Given the description of an element on the screen output the (x, y) to click on. 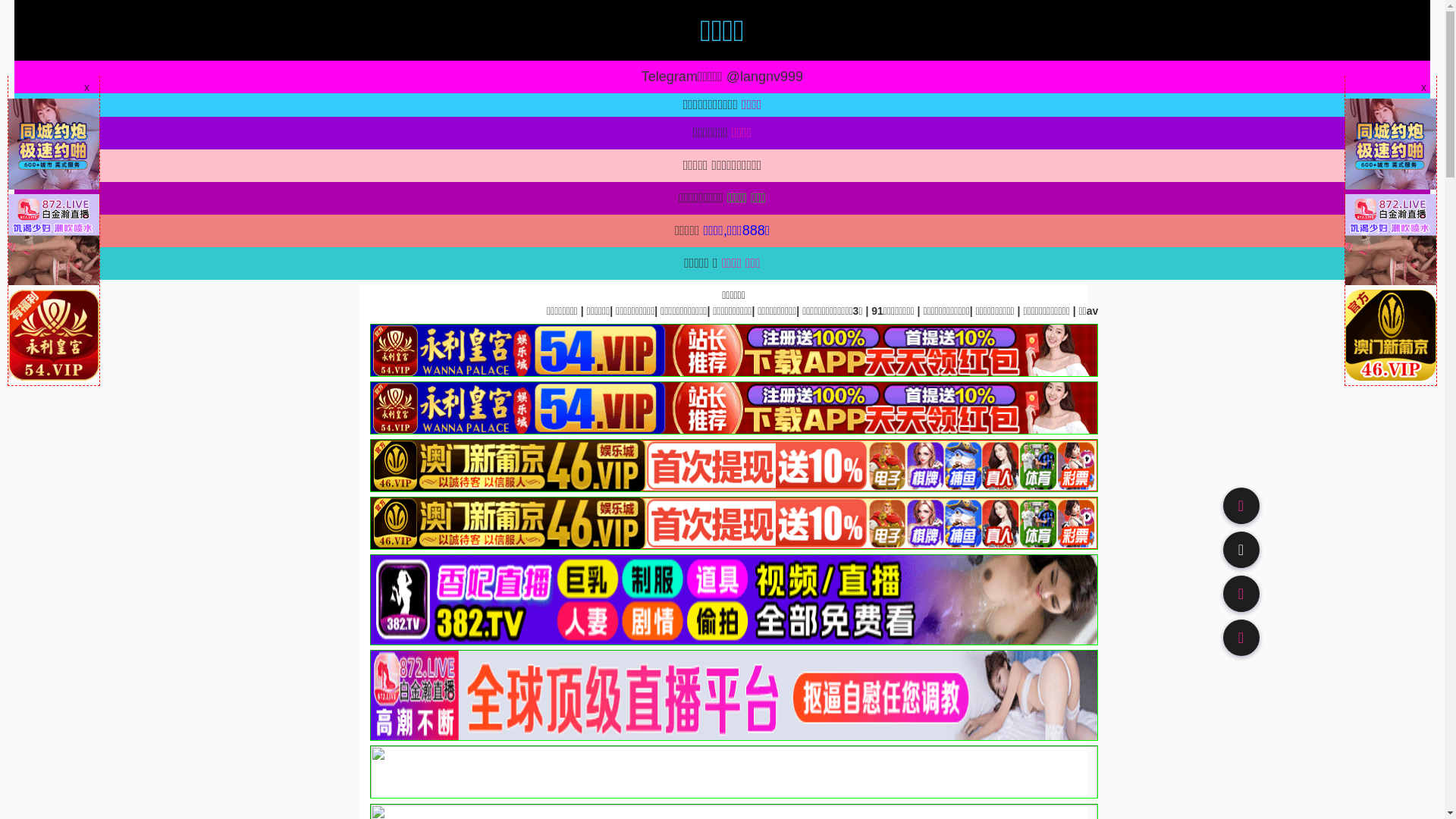
| Element type: text (104, 310)
| Element type: text (298, 310)
91TV Element type: hover (1240, 593)
| Element type: text (241, 310)
| Element type: text (669, 310)
| Element type: text (164, 310)
| Element type: text (191, 310)
| Element type: text (620, 310)
| Element type: text (475, 310)
x Element type: text (1423, 86)
| Element type: text (644, 310)
| Element type: text (70, 310)
| Element type: text (691, 310)
| Element type: text (576, 310)
| Element type: text (368, 310)
| Element type: text (26, 310)
x Element type: text (86, 86)
| Element type: text (533, 310)
| Element type: text (343, 310)
| Element type: text (439, 310)
| Element type: text (136, 310)
